Given the description of an element on the screen output the (x, y) to click on. 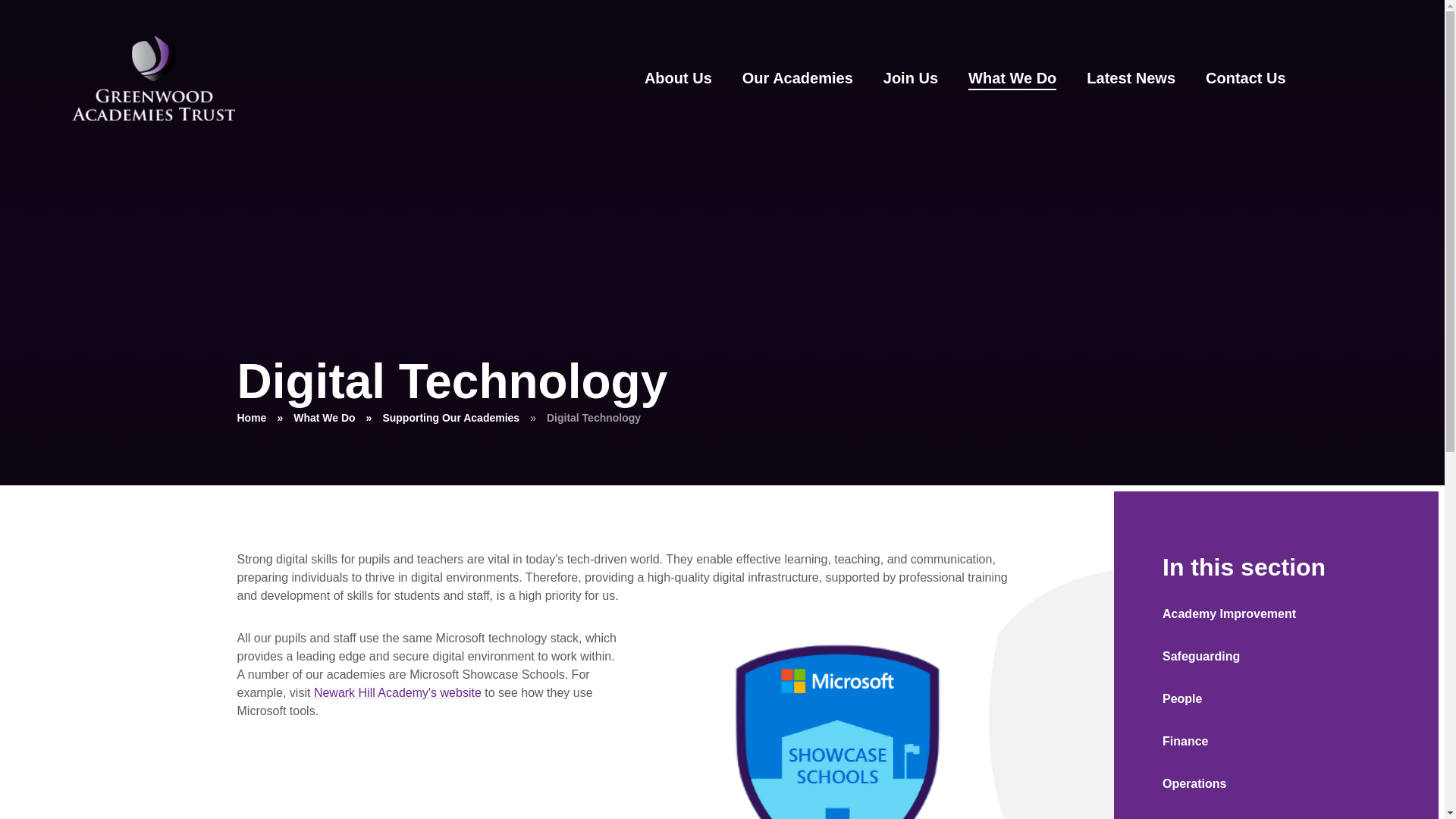
About Us (677, 77)
Our Academies (796, 77)
Join Us (909, 77)
What We Do (1012, 77)
